Given the description of an element on the screen output the (x, y) to click on. 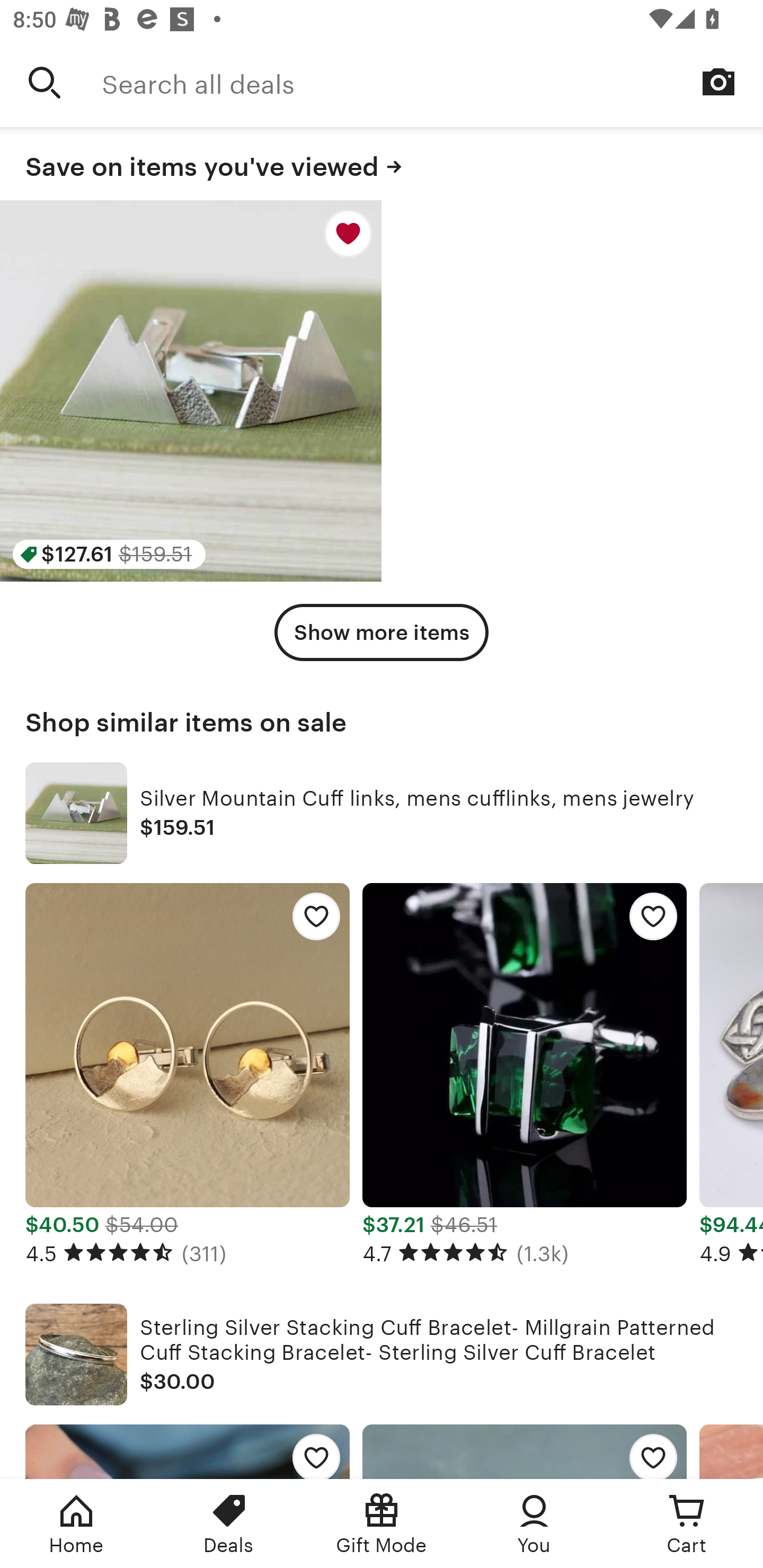
Search for anything on Etsy (44, 82)
Search by image (718, 81)
Search all deals (432, 82)
Save on items you've viewed (381, 164)
Show more items (381, 632)
Home (76, 1523)
Gift Mode (381, 1523)
You (533, 1523)
Cart (686, 1523)
